Given the description of an element on the screen output the (x, y) to click on. 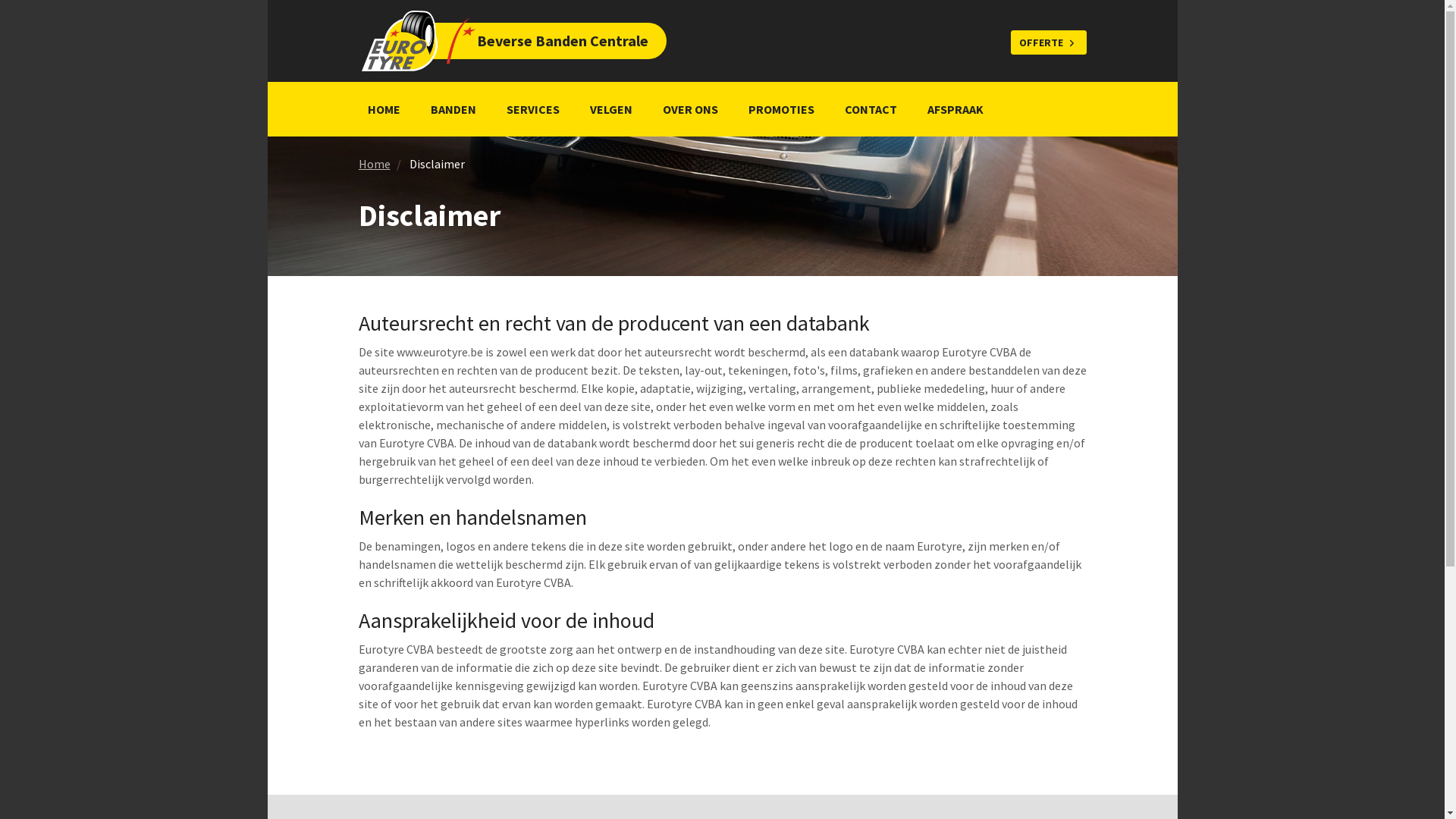
HOME Element type: text (382, 109)
BANDEN Element type: text (453, 109)
CONTACT Element type: text (870, 109)
AFSPRAAK Element type: text (954, 109)
PROMOTIES Element type: text (780, 109)
VELGEN Element type: text (610, 109)
OVER ONS Element type: text (690, 109)
SERVICES Element type: text (532, 109)
Disclaimer Element type: text (436, 163)
Home Element type: text (373, 163)
OFFERTE Element type: text (1047, 42)
Beverse Banden Centrale Element type: text (488, 40)
